Given the description of an element on the screen output the (x, y) to click on. 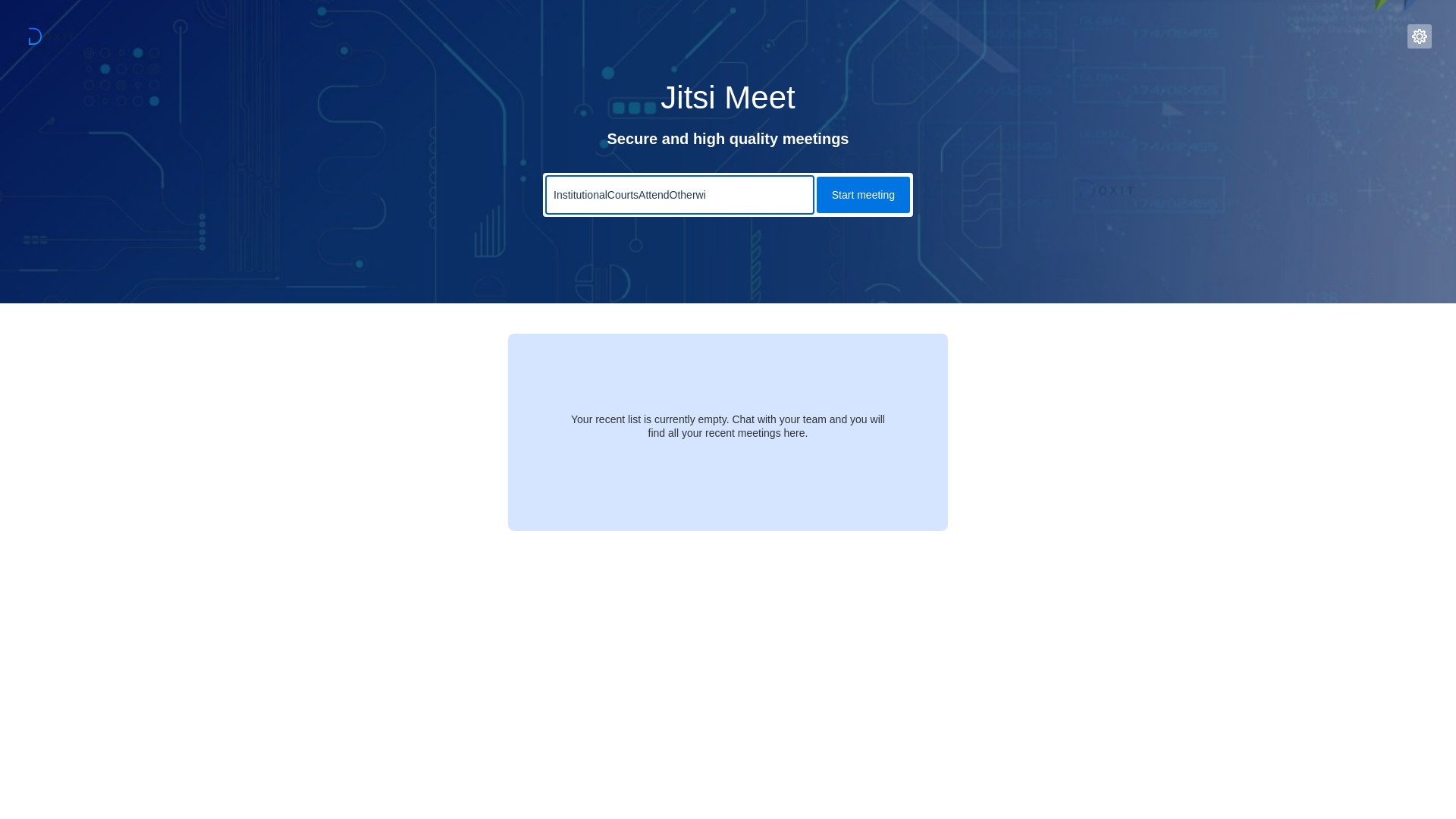
show more Element type: text (697, 435)
reload now Element type: text (759, 435)
